Given the description of an element on the screen output the (x, y) to click on. 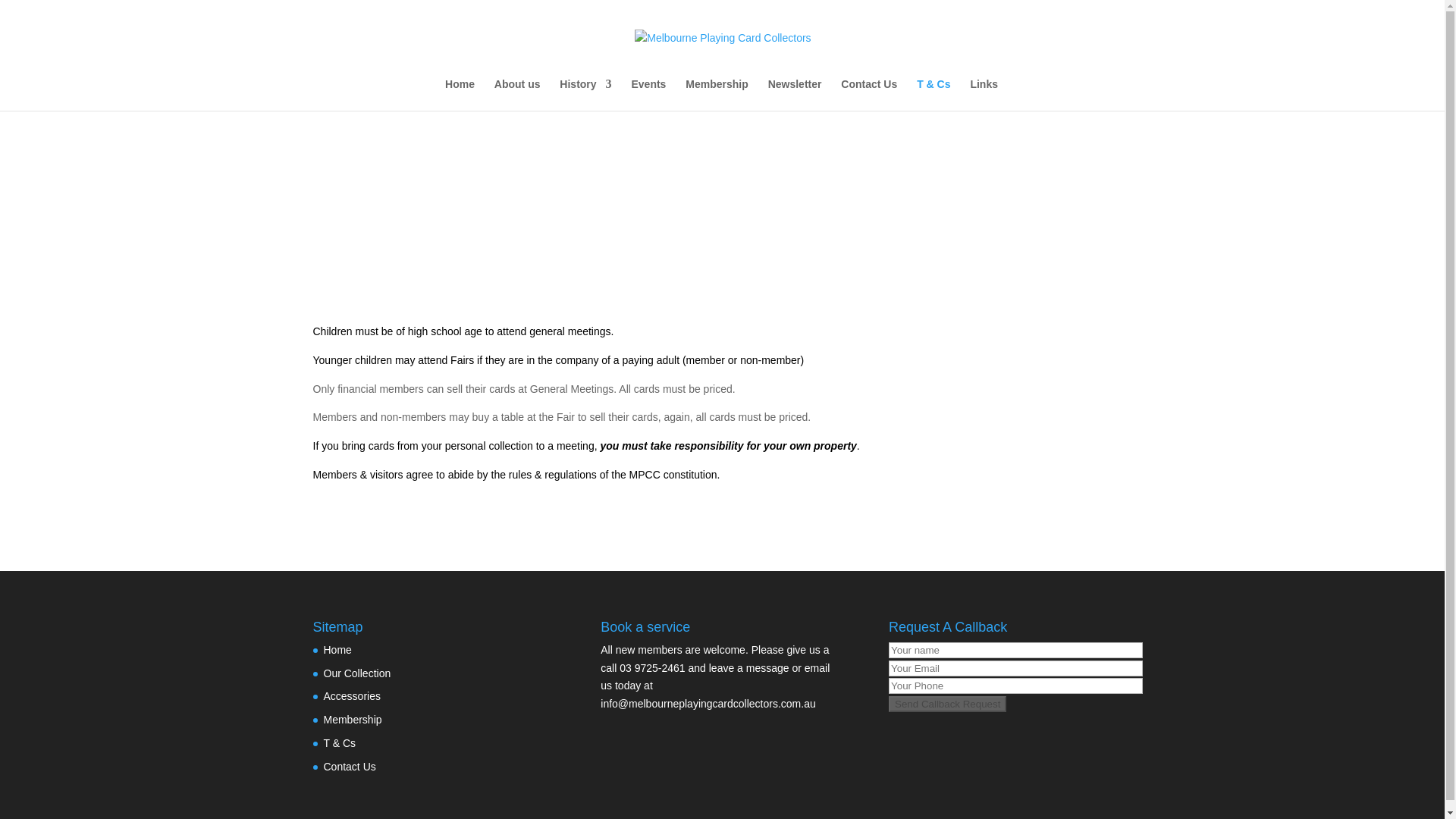
Contact Us (868, 94)
Membership (716, 94)
Send Callback Request (947, 703)
Send Callback Request (947, 703)
Newsletter (795, 94)
About us (517, 94)
Accessories (351, 695)
Home (336, 649)
Contact Us (349, 766)
Membership (352, 719)
Our Collection (356, 673)
Home (459, 94)
History (585, 94)
Events (647, 94)
